Given the description of an element on the screen output the (x, y) to click on. 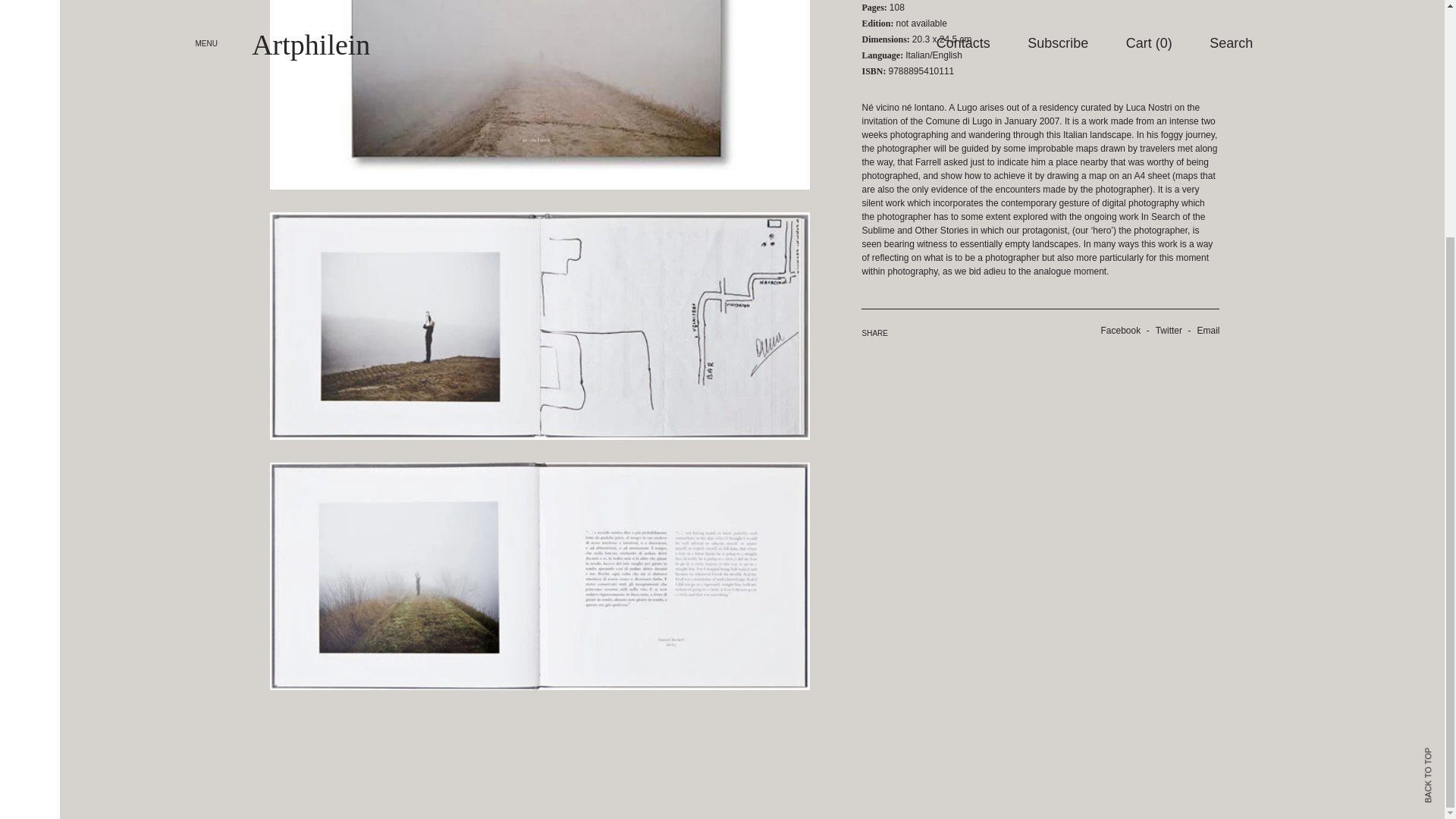
Email (1202, 330)
Facebook (1114, 330)
Twitter (1163, 330)
